Given the description of an element on the screen output the (x, y) to click on. 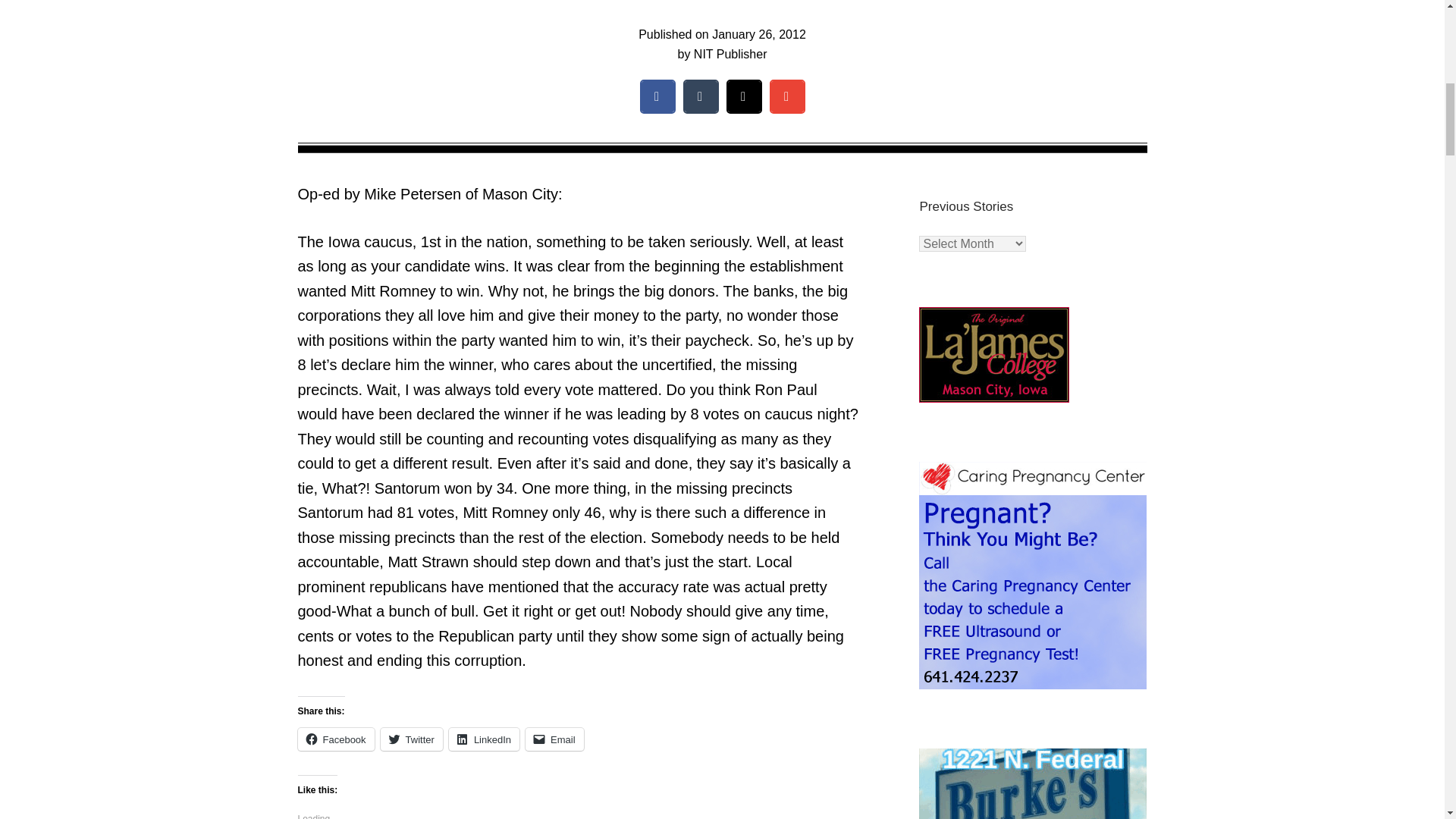
Click to share on LinkedIn (483, 739)
LinkedIn (483, 739)
Click to share on Twitter (411, 739)
Click to email a link to a friend (554, 739)
Facebook (335, 739)
Click to share on Facebook (335, 739)
Twitter (411, 739)
Email (554, 739)
